Given the description of an element on the screen output the (x, y) to click on. 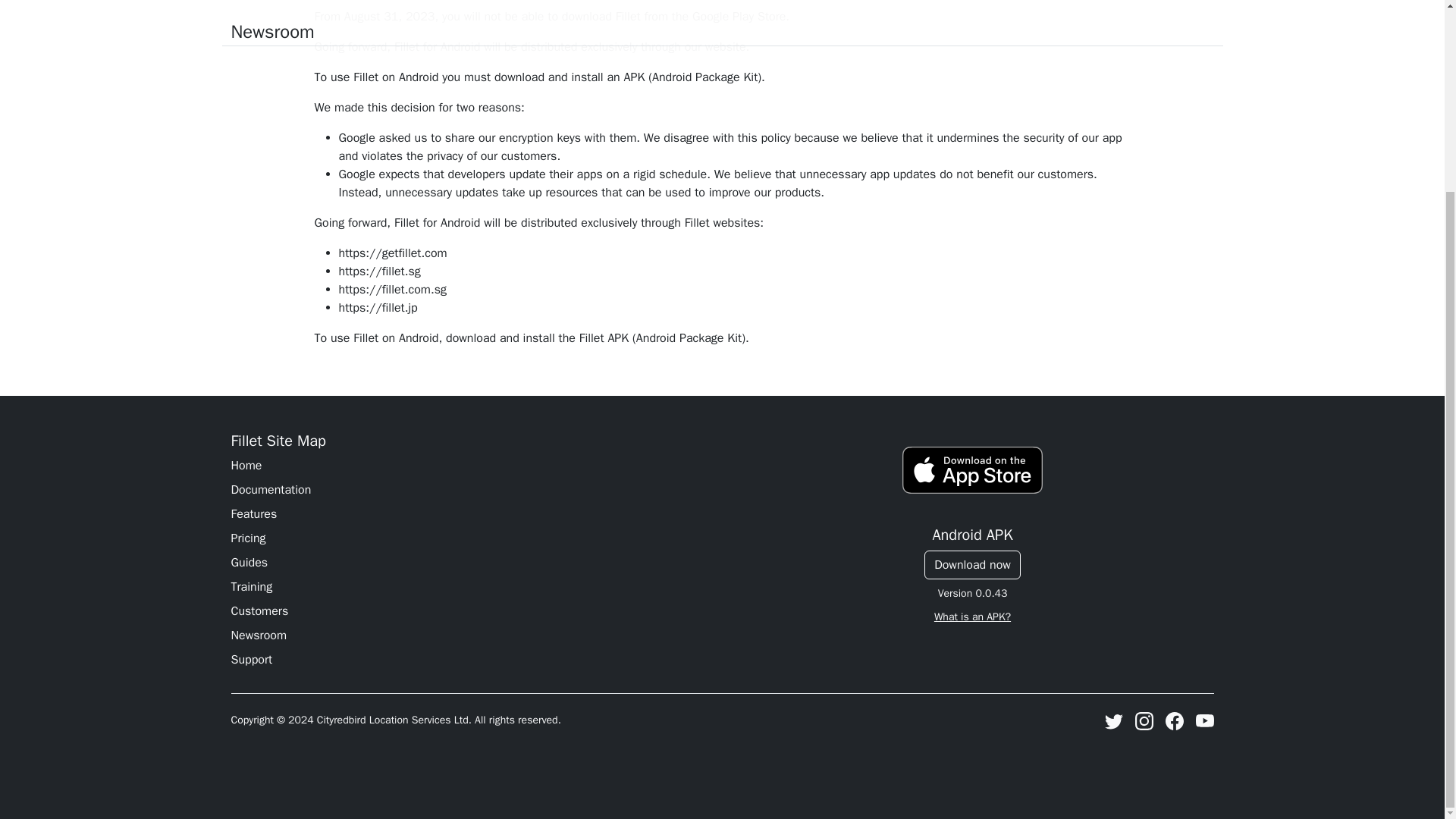
Download now (972, 564)
Support (471, 659)
Customers (471, 610)
Newsroom (471, 635)
Training (471, 587)
What is an APK? (972, 616)
Pricing (471, 538)
Guides (471, 562)
Documentation (471, 489)
Features (471, 514)
Home (471, 465)
